Given the description of an element on the screen output the (x, y) to click on. 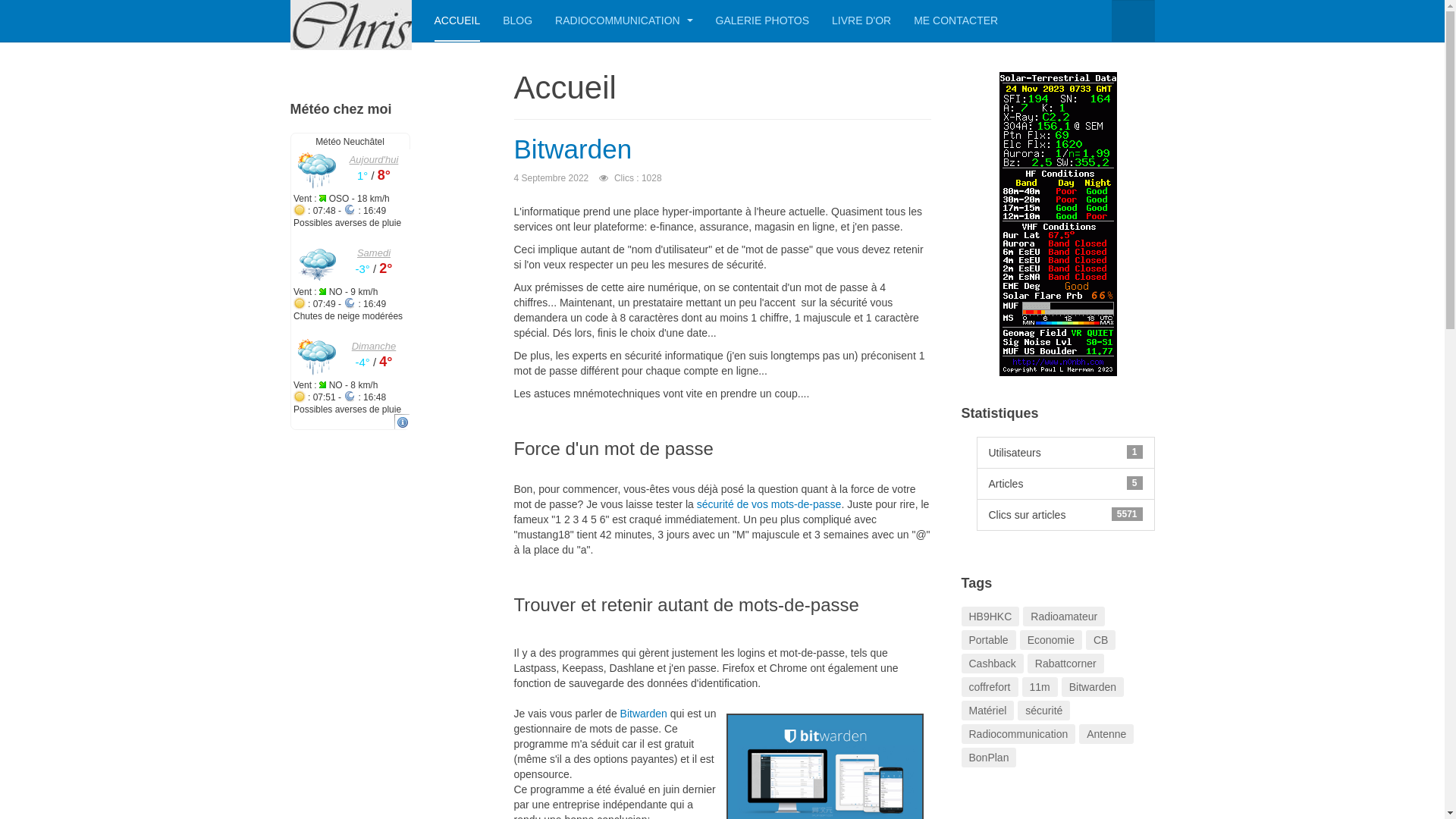
Rabattcorner Element type: text (1065, 663)
Portable Element type: text (988, 639)
Radiocommunication Element type: text (1018, 734)
Bitwarden Element type: text (573, 148)
Radioamateur Element type: text (1063, 616)
GALERIE PHOTOS Element type: text (762, 20)
ACCUEIL Element type: text (456, 20)
11m Element type: text (1039, 686)
BLOG Element type: text (517, 20)
Cashback Element type: text (992, 663)
LIVRE D'OR Element type: text (861, 20)
Bitwarden Element type: text (643, 713)
coffrefort Element type: text (989, 686)
HB9HKC Element type: text (990, 616)
RADIOCOMMUNICATION Element type: text (624, 20)
ME CONTACTER Element type: text (955, 20)
Bitwarden Element type: text (1092, 686)
Le site de Chris - HB9HKC - Falcor 72 Element type: hover (350, 20)
CB Element type: text (1100, 639)
Economie Element type: text (1050, 639)
Click to add Solar-Terrestrial Data to your website! Element type: hover (1058, 222)
Antenne Element type: text (1106, 734)
BonPlan Element type: text (989, 757)
